Given the description of an element on the screen output the (x, y) to click on. 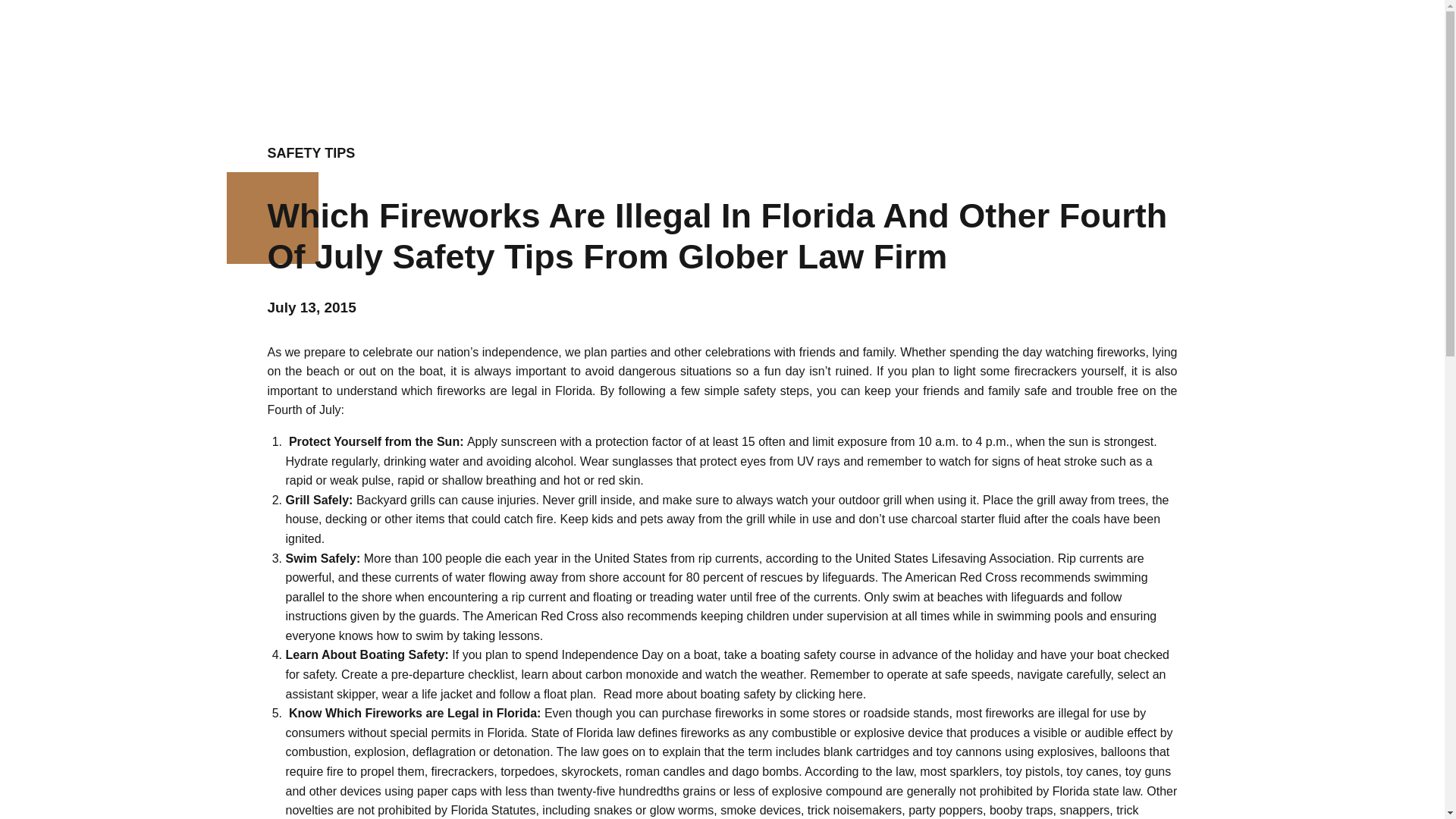
SAFETY TIPS (310, 152)
